Given the description of an element on the screen output the (x, y) to click on. 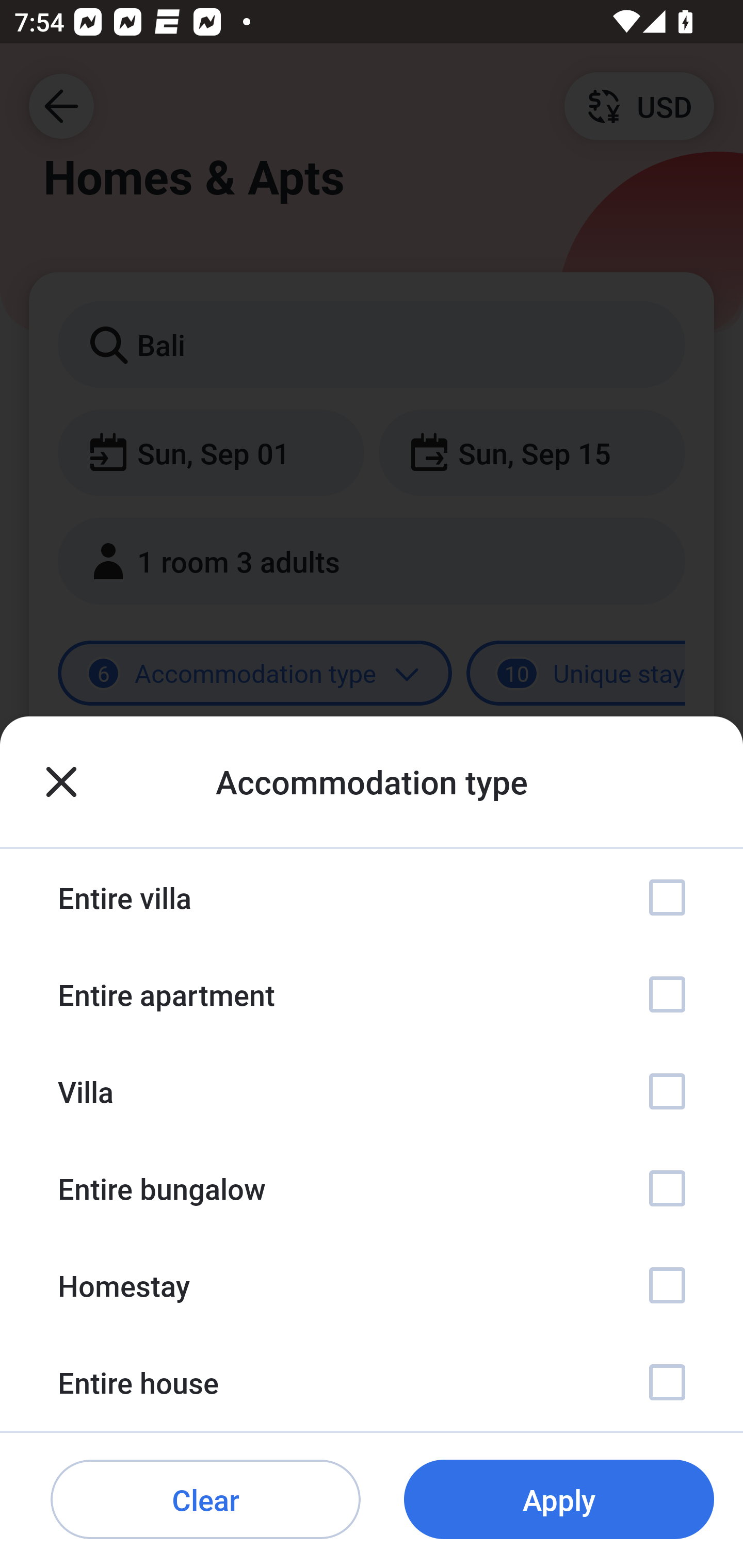
Entire villa (371, 897)
Entire apartment (371, 994)
Villa (371, 1091)
Entire bungalow (371, 1188)
Homestay (371, 1284)
Entire house (371, 1382)
Clear (205, 1499)
Apply (559, 1499)
